Given the description of an element on the screen output the (x, y) to click on. 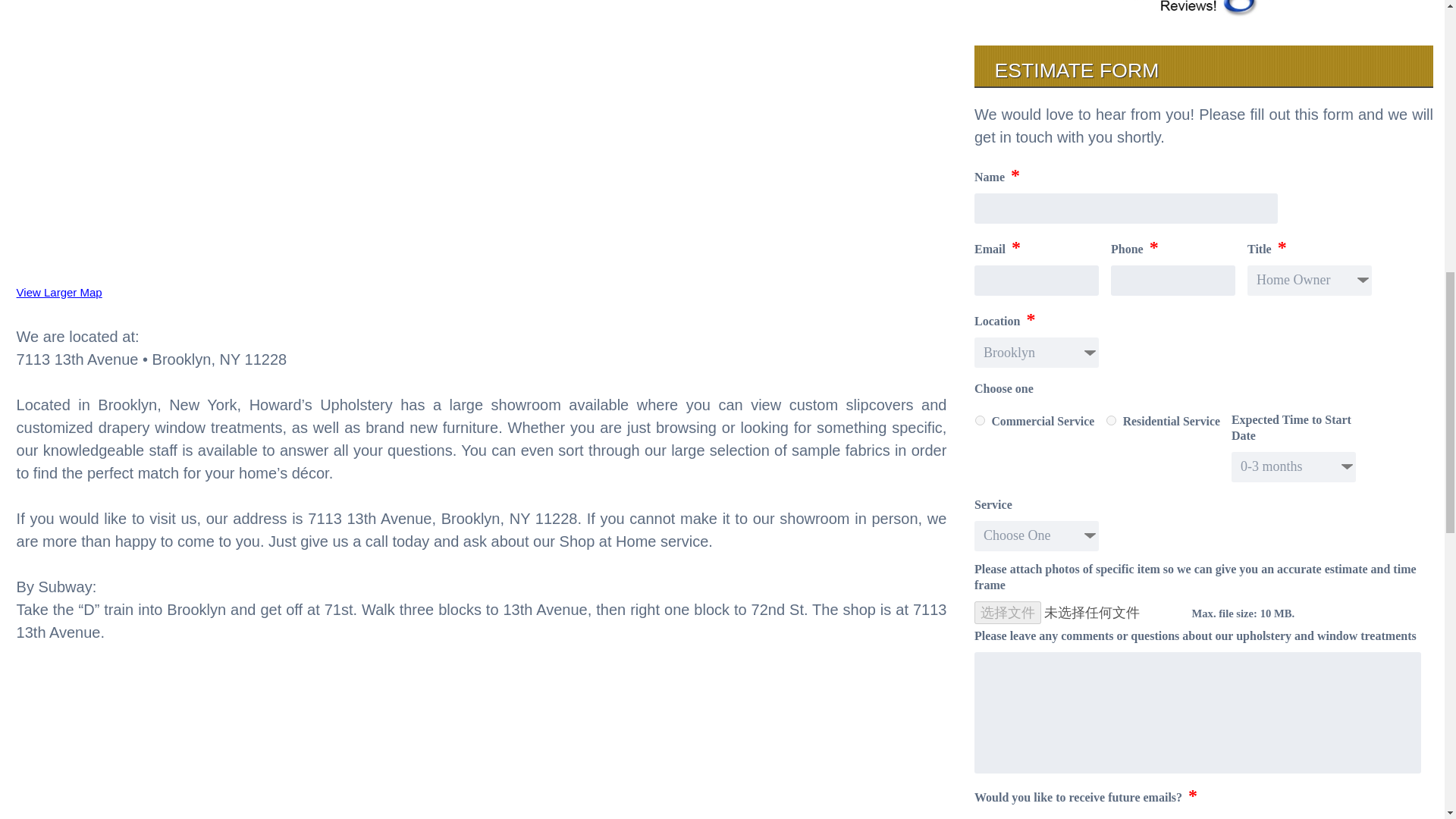
Commercial Service (980, 420)
Residential Service (1111, 420)
View Larger Map (58, 291)
